Given the description of an element on the screen output the (x, y) to click on. 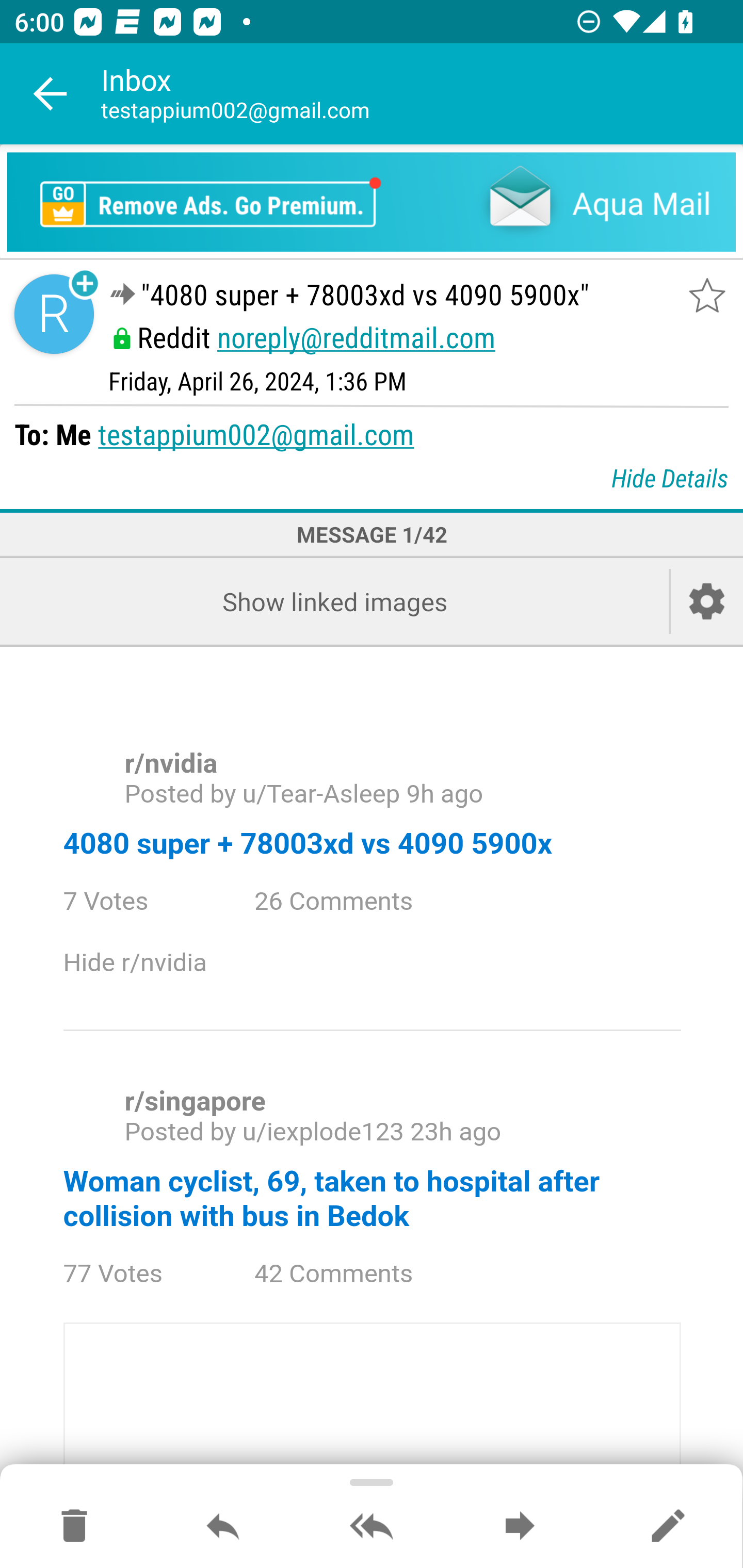
Navigate up (50, 93)
Inbox testappium002@gmail.com (422, 93)
Sender contact button (53, 314)
Show linked images (334, 601)
Account setup (706, 601)
Move to Deleted (74, 1527)
Reply (222, 1527)
Reply all (371, 1527)
Forward (519, 1527)
Reply as new (667, 1527)
